Given the description of an element on the screen output the (x, y) to click on. 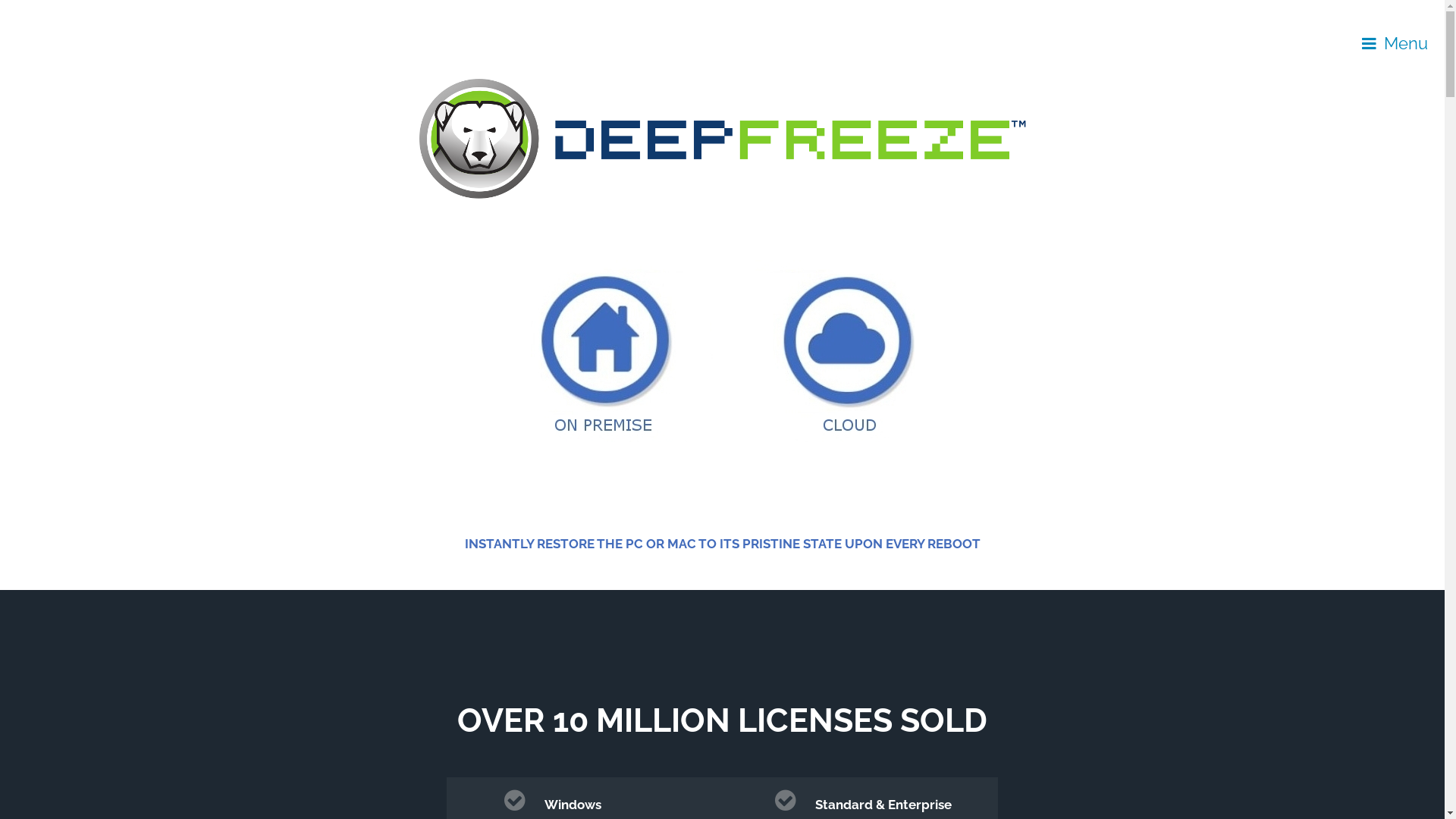
Menu Element type: text (1394, 43)
